Given the description of an element on the screen output the (x, y) to click on. 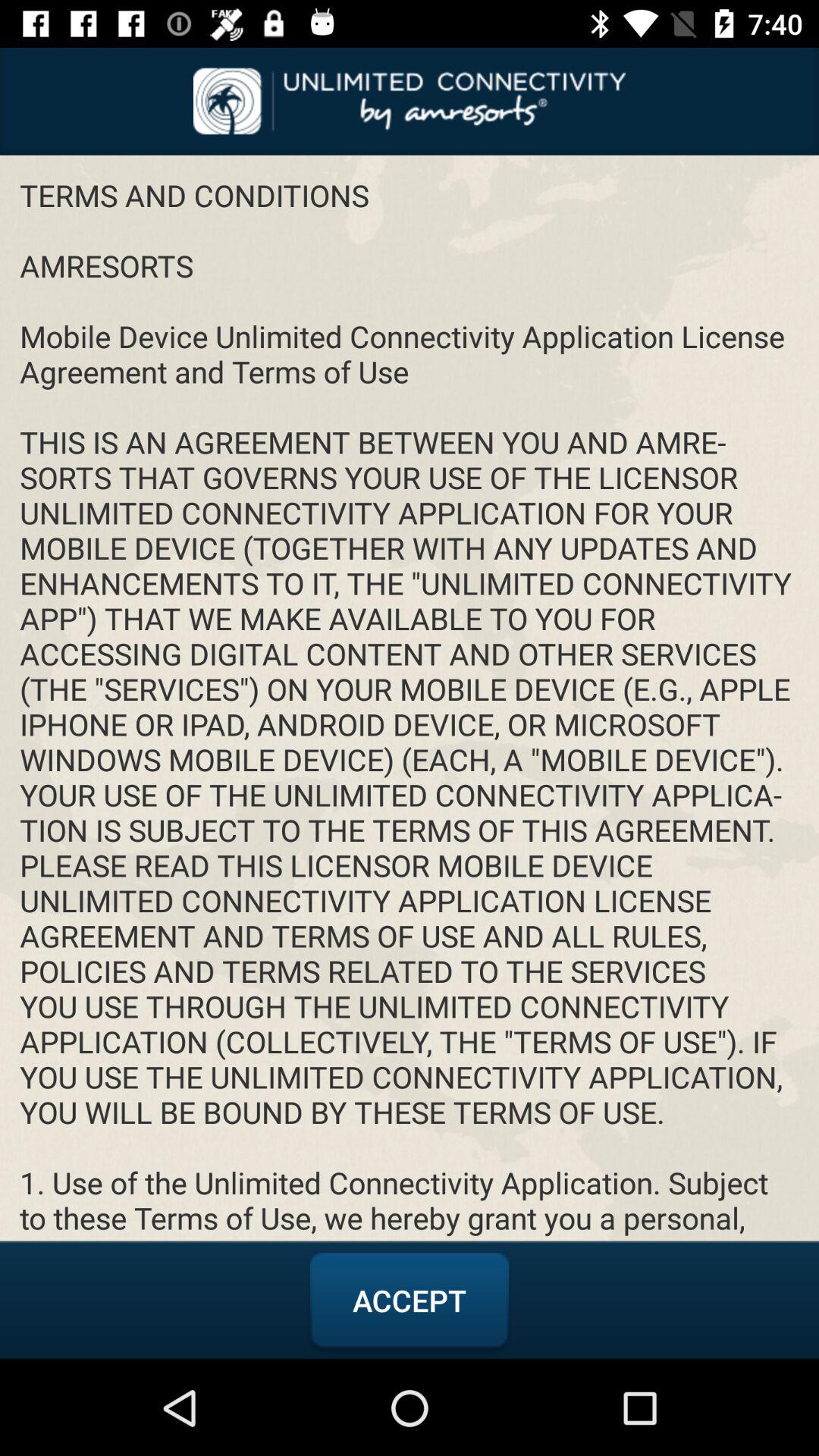
launch the icon above the terms and conditions icon (409, 101)
